Given the description of an element on the screen output the (x, y) to click on. 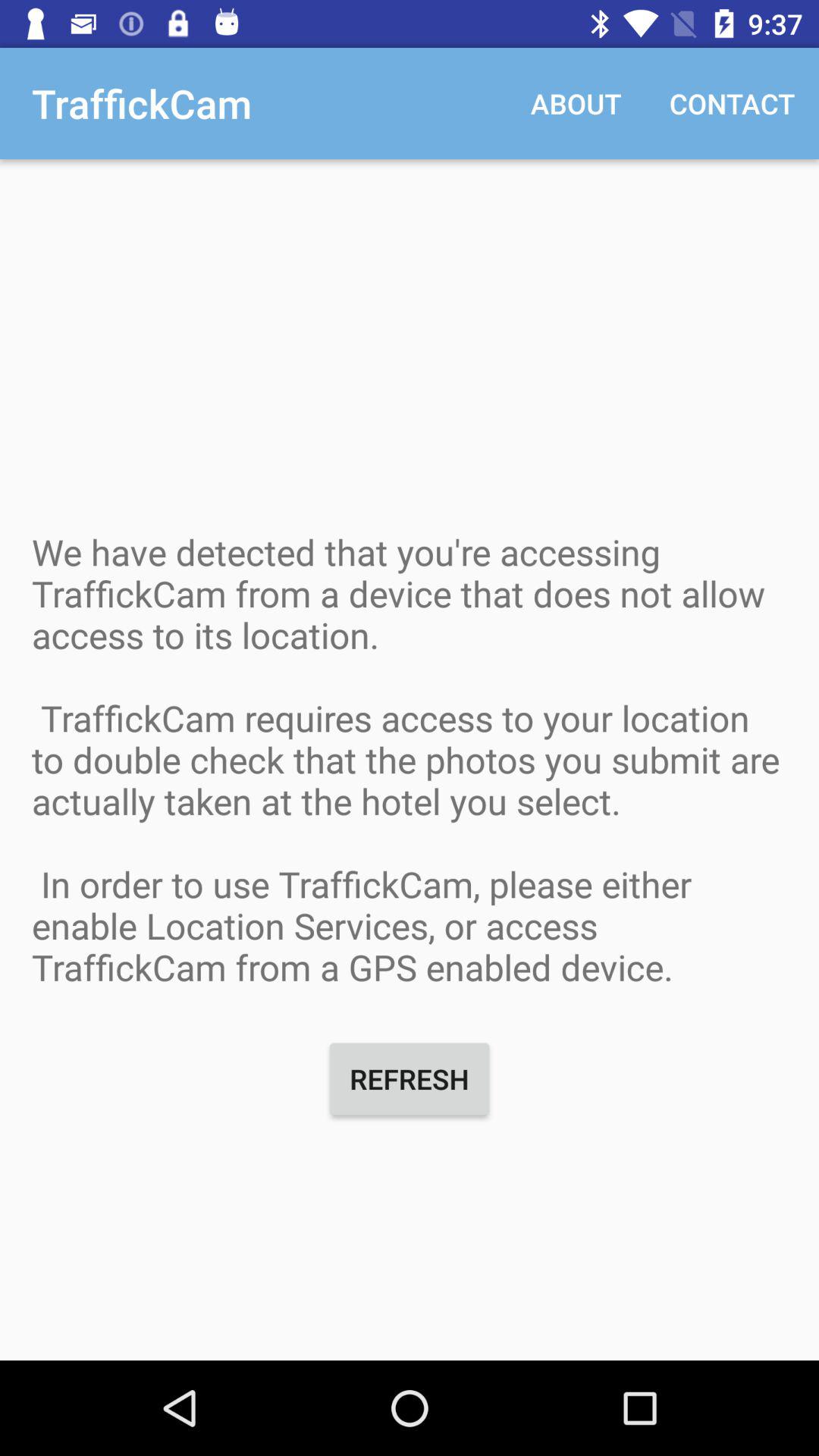
open the icon to the left of the contact (575, 103)
